Given the description of an element on the screen output the (x, y) to click on. 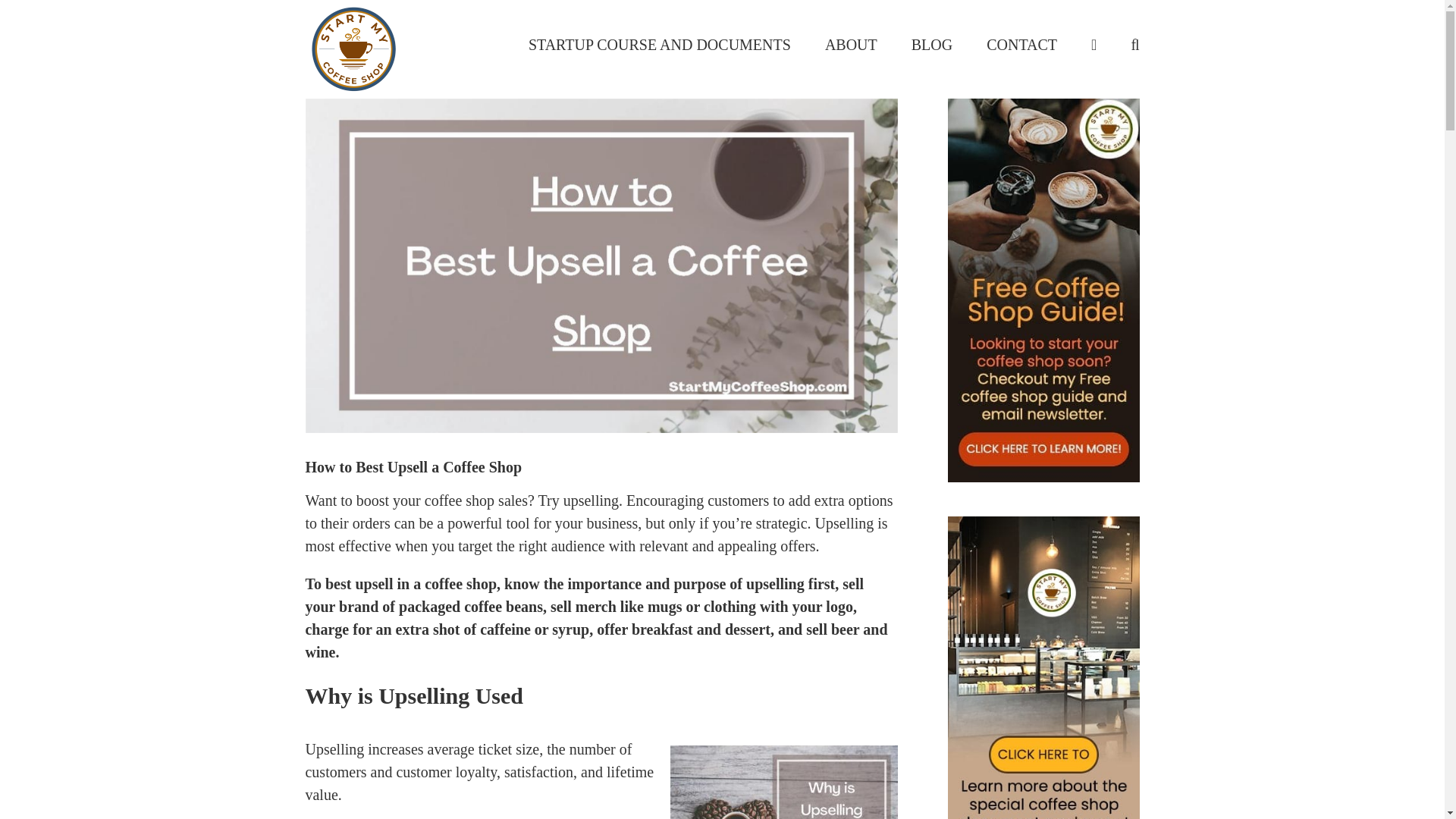
STARTUP COURSE AND DOCUMENTS (659, 43)
